Given the description of an element on the screen output the (x, y) to click on. 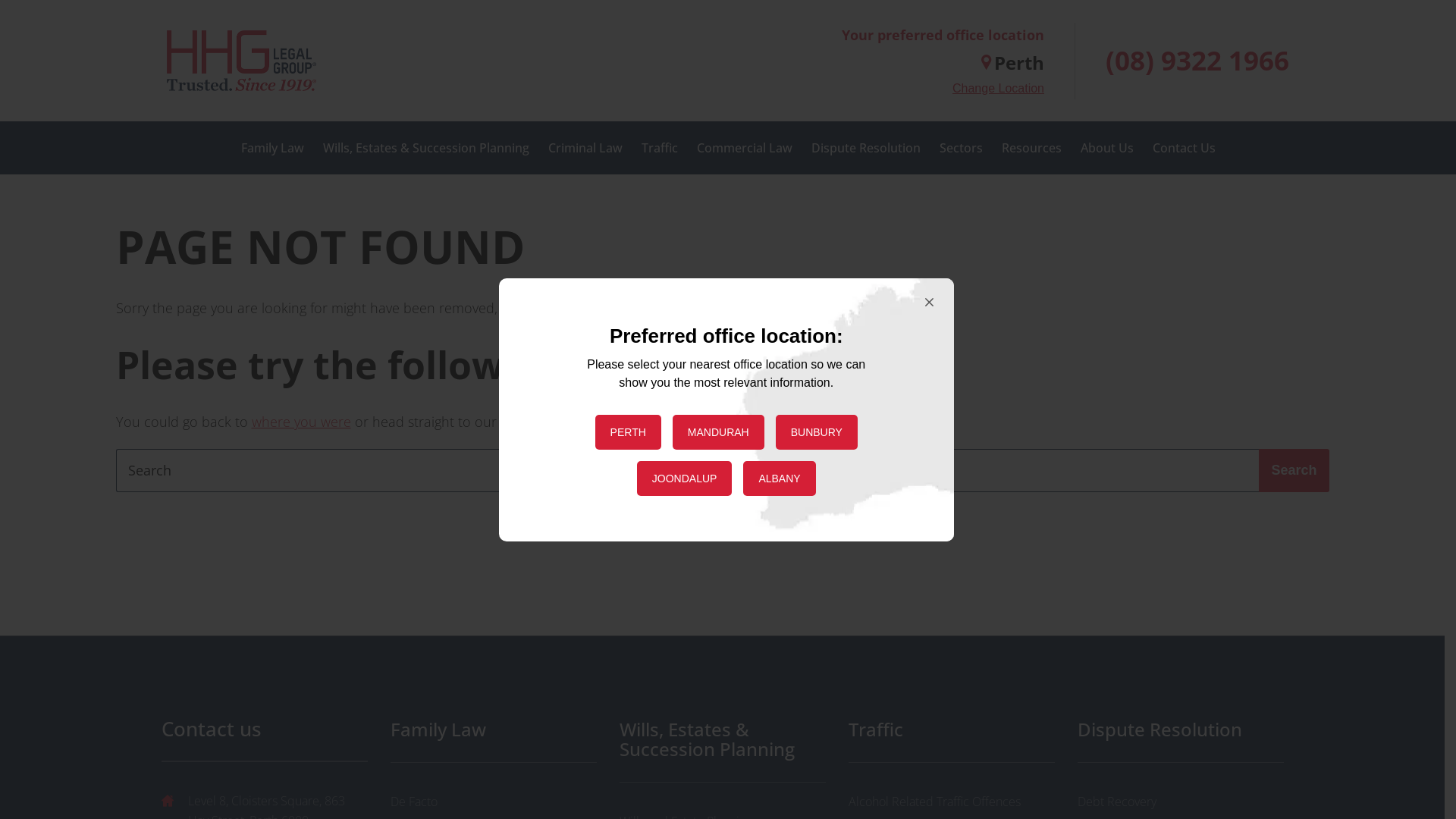
De Facto Element type: text (492, 801)
Dispute Resolution Element type: text (1179, 729)
Close Element type: hover (921, 302)
Sectors Element type: text (960, 147)
Wills, Estates & Succession Planning Element type: text (425, 147)
Criminal Law Element type: text (584, 147)
About Us Element type: text (1106, 147)
Alcohol Related Traffic Offences Element type: text (950, 801)
Traffic Element type: text (950, 729)
Dispute Resolution Element type: text (865, 147)
Wills, Estates & Succession Planning Element type: text (721, 739)
JOONDALUP Element type: text (684, 478)
BUNBURY Element type: text (816, 431)
ALBANY Element type: text (779, 478)
Search Element type: text (1293, 470)
Change Location Element type: text (998, 88)
PERTH Element type: text (628, 431)
Debt Recovery Element type: text (1179, 801)
Family Law Element type: text (272, 147)
Commercial Law Element type: text (743, 147)
Traffic Element type: text (659, 147)
MANDURAH Element type: text (718, 431)
Family Law Element type: text (492, 729)
Contact Us Element type: text (1184, 147)
home page Element type: text (535, 421)
(08) 9322 1966 Element type: text (1197, 60)
where you were Element type: text (301, 421)
Resources Element type: text (1030, 147)
